Given the description of an element on the screen output the (x, y) to click on. 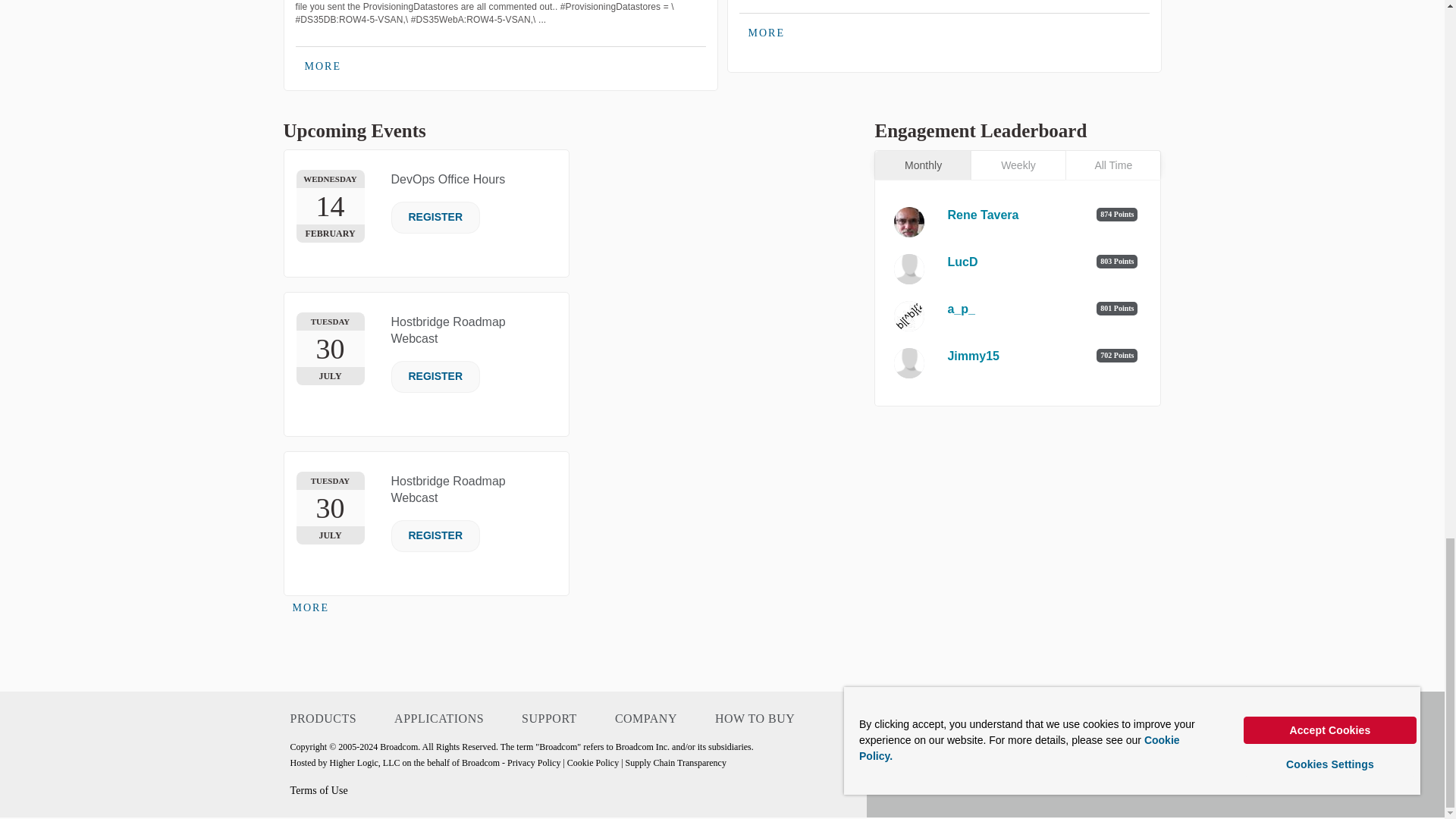
More (322, 66)
View All Blog Posts (765, 33)
DevOps Office  Hours (448, 178)
Hostbridge Roadmap Webcast (448, 329)
Hostbridge Roadmap Webcast (448, 489)
More (310, 607)
